Given the description of an element on the screen output the (x, y) to click on. 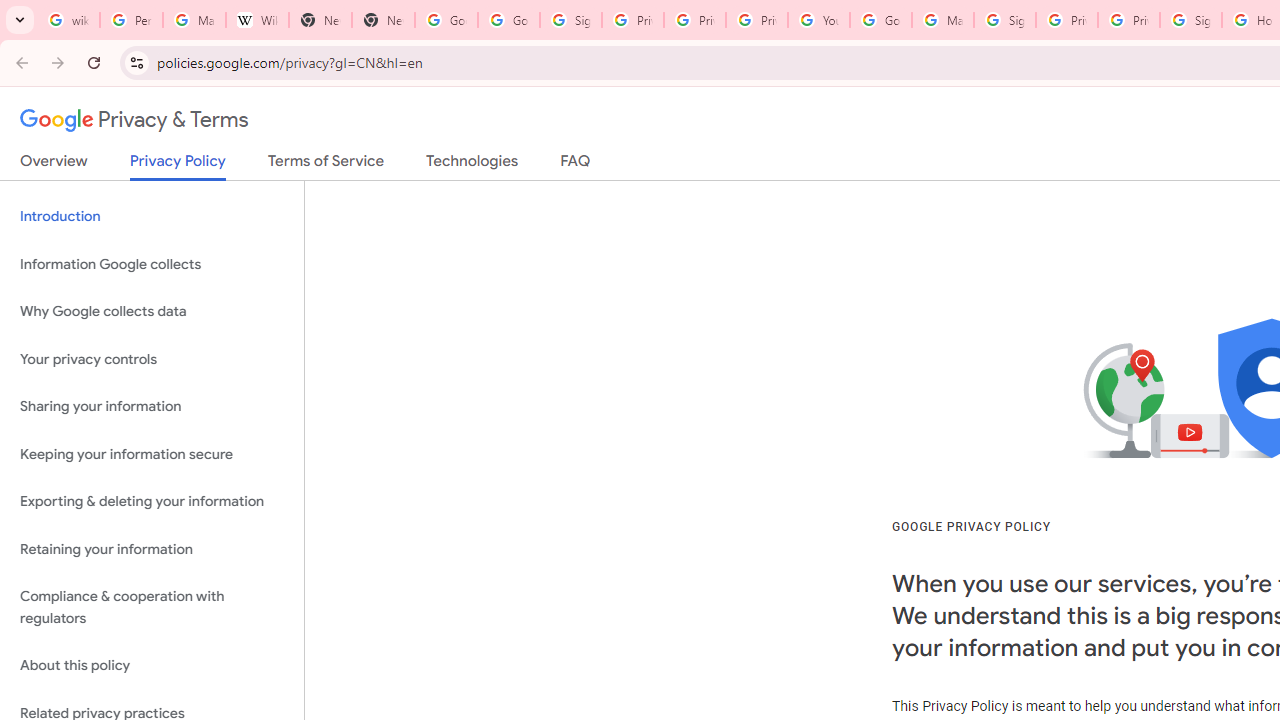
Personalization & Google Search results - Google Search Help (130, 20)
Google Drive: Sign-in (508, 20)
Information Google collects (152, 263)
Keeping your information secure (152, 453)
New Tab (383, 20)
New Tab (320, 20)
About this policy (152, 666)
Manage your Location History - Google Search Help (194, 20)
